Given the description of an element on the screen output the (x, y) to click on. 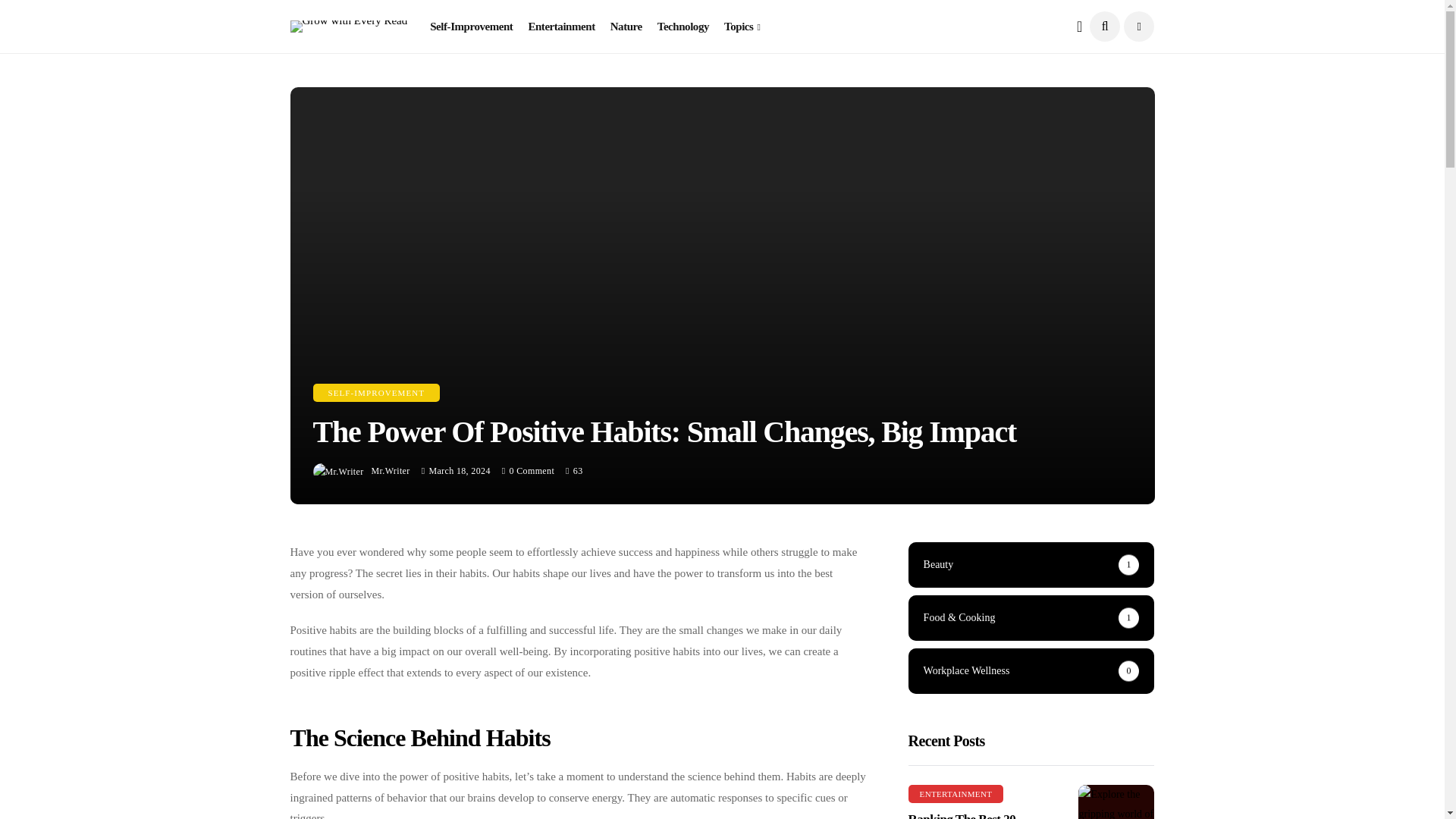
0 Comment (531, 470)
Nature (626, 26)
Technology (683, 26)
Mr.Writer (390, 470)
Posts by Mr.Writer (390, 470)
Ranking The Best 20 Psychological Thrillers (1116, 801)
Topics (741, 26)
SELF-IMPROVEMENT (376, 393)
Entertainment (560, 26)
Self-Improvement (470, 26)
